Given the description of an element on the screen output the (x, y) to click on. 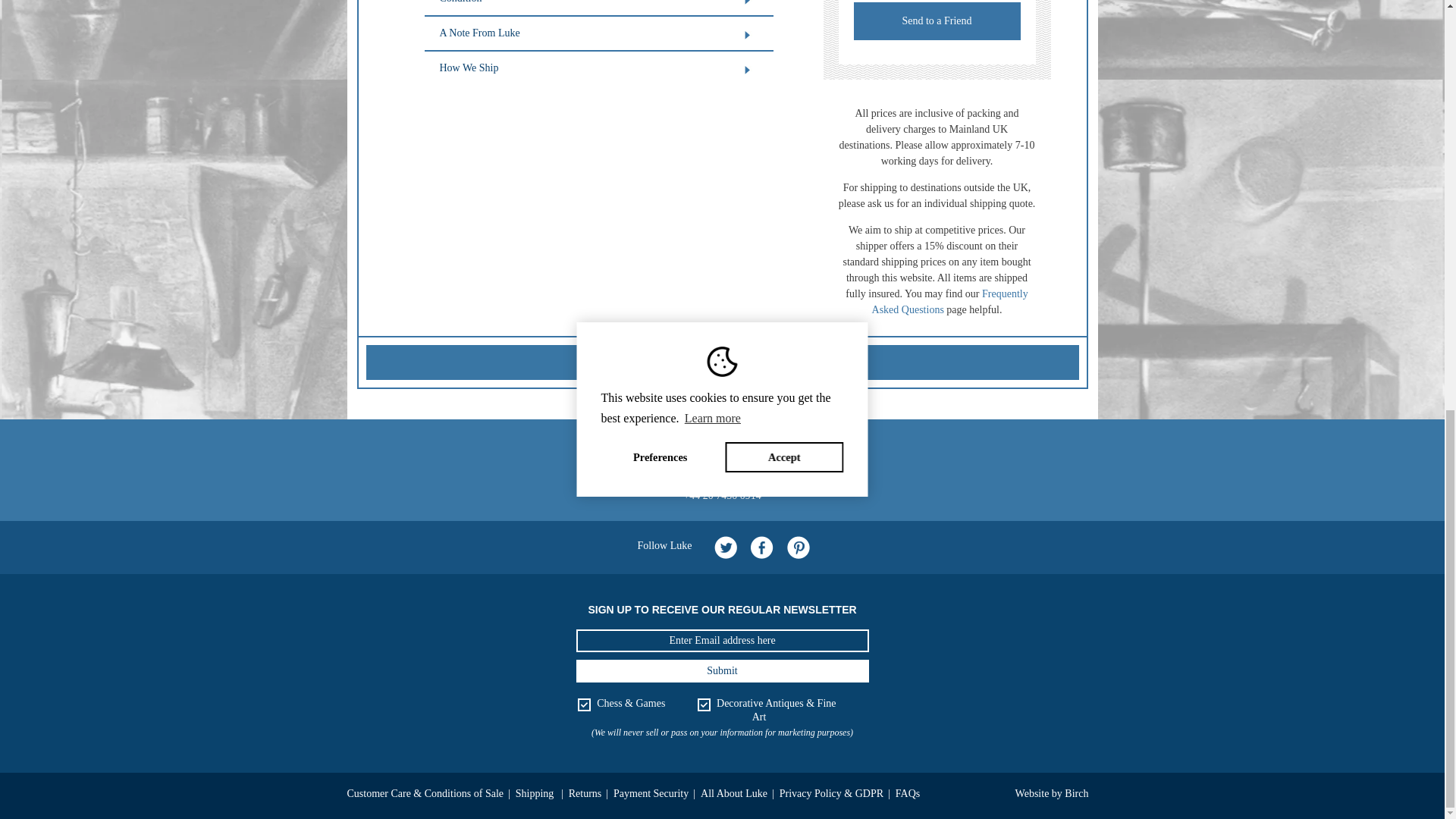
Back to Top (721, 362)
Facebook (762, 547)
Frequently Asked Questions (949, 301)
Twitter (725, 547)
Enter Email address here (722, 640)
Pinterest (798, 547)
Submit (722, 671)
Submit (722, 671)
Send to a Friend (936, 21)
